Given the description of an element on the screen output the (x, y) to click on. 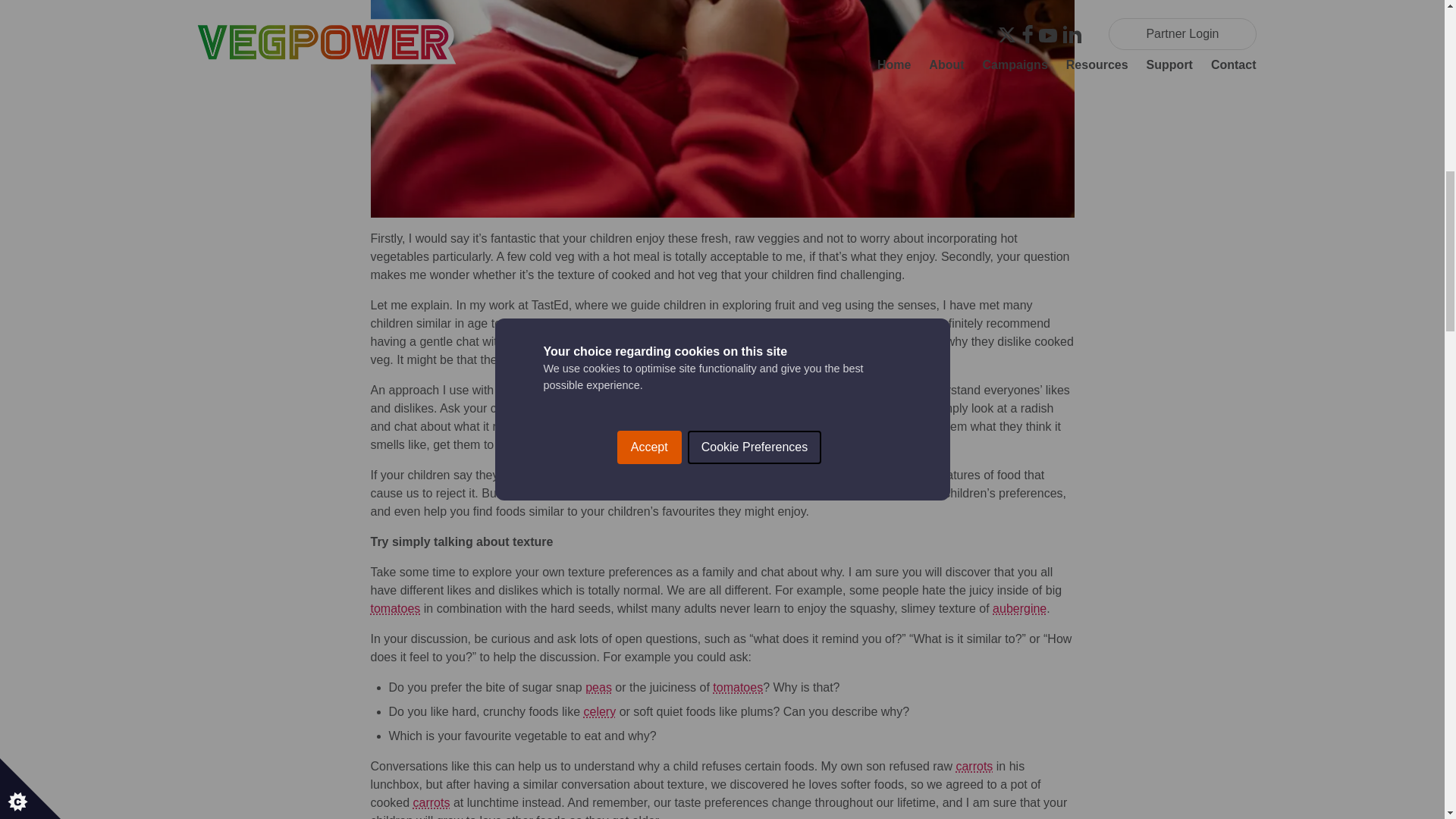
tomato (649, 408)
tomatoes (394, 608)
aubergine (1019, 608)
tomatoes (737, 686)
peas (598, 686)
celery (599, 711)
